Given the description of an element on the screen output the (x, y) to click on. 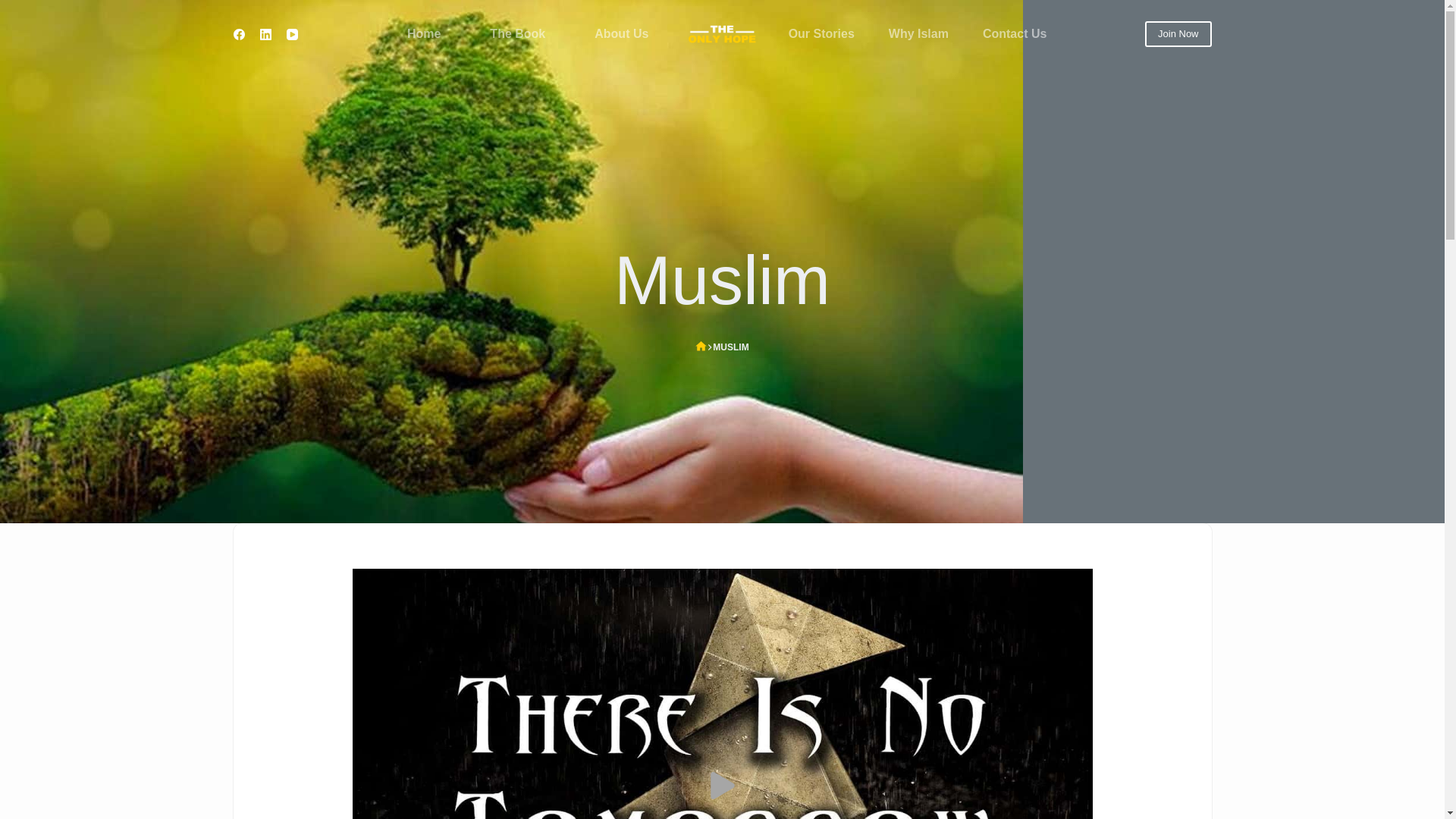
Muslim (722, 280)
Contact Us (1013, 33)
Join Now (1177, 33)
About Us (621, 33)
The Book (517, 33)
Why Islam (917, 33)
Skip to content (15, 7)
Our Stories (820, 33)
Home (422, 33)
